Given the description of an element on the screen output the (x, y) to click on. 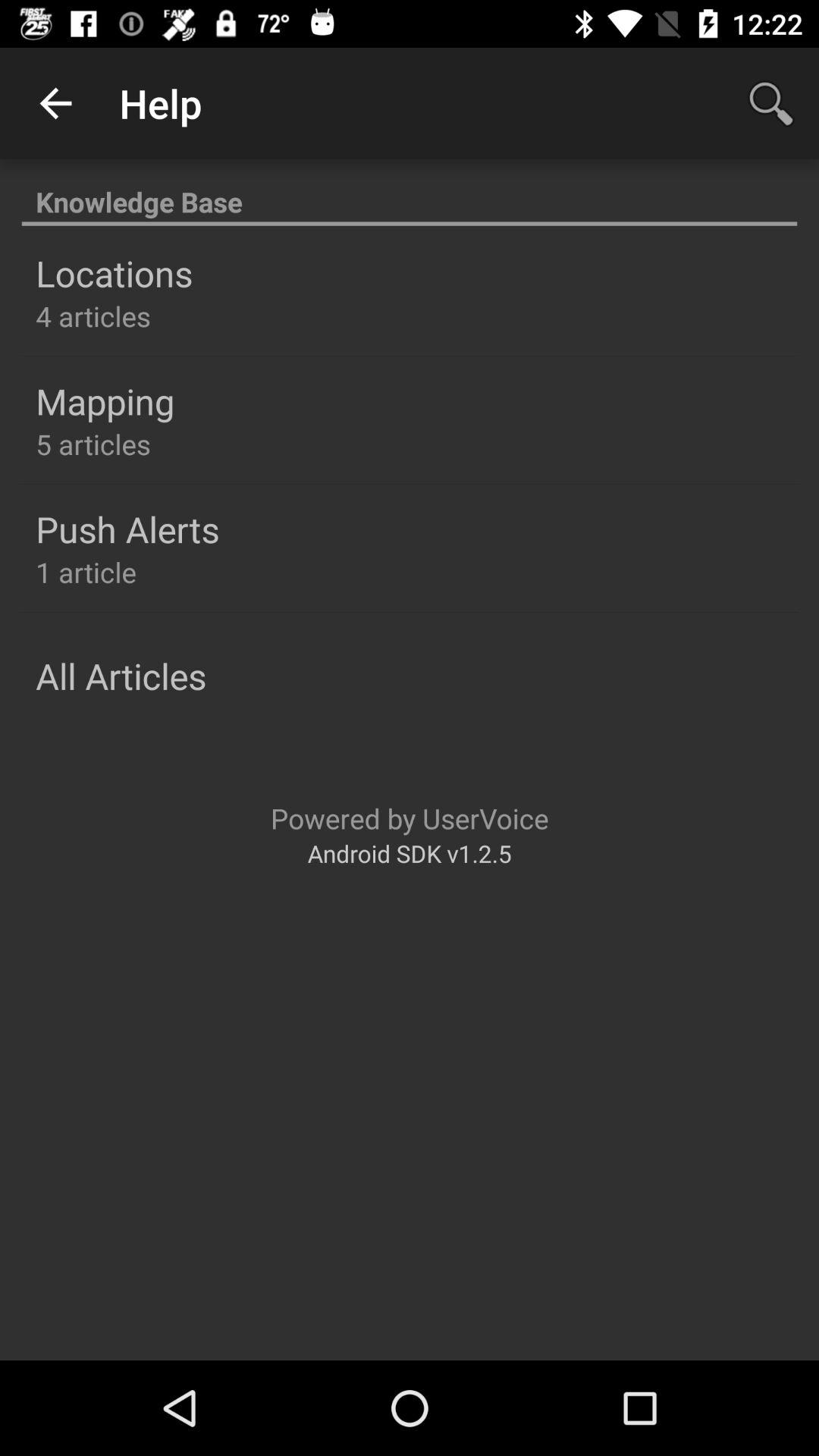
turn off item below the mapping item (92, 443)
